Given the description of an element on the screen output the (x, y) to click on. 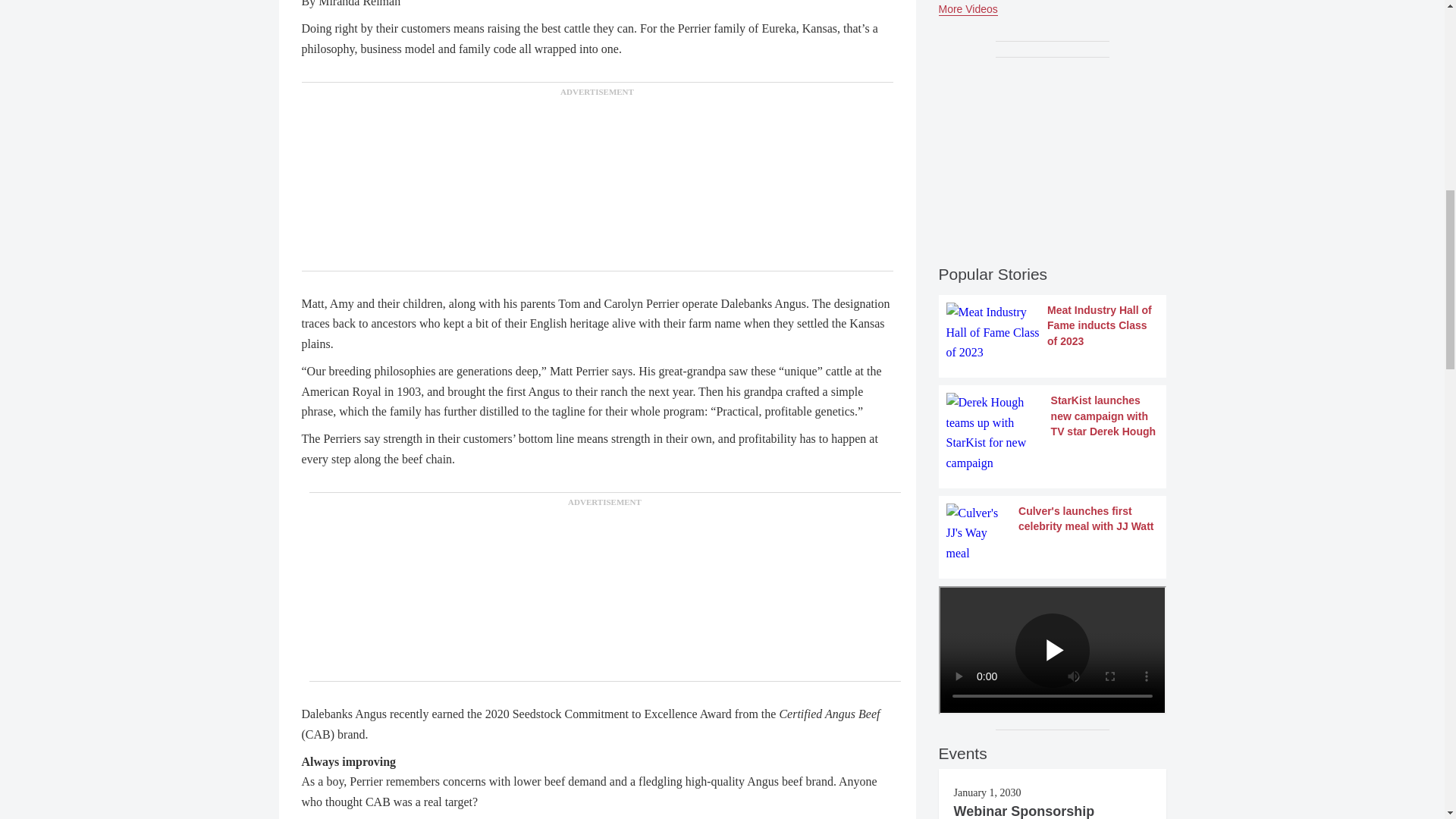
Webinar Sponsorship Information (1023, 811)
Meat Industry Hall of Fame inducts Class of 2023 (1052, 332)
Culver's launches first celebrity meal with JJ Watt (1052, 533)
StarKist launches new campaign with TV star Derek Hough (1052, 433)
